Given the description of an element on the screen output the (x, y) to click on. 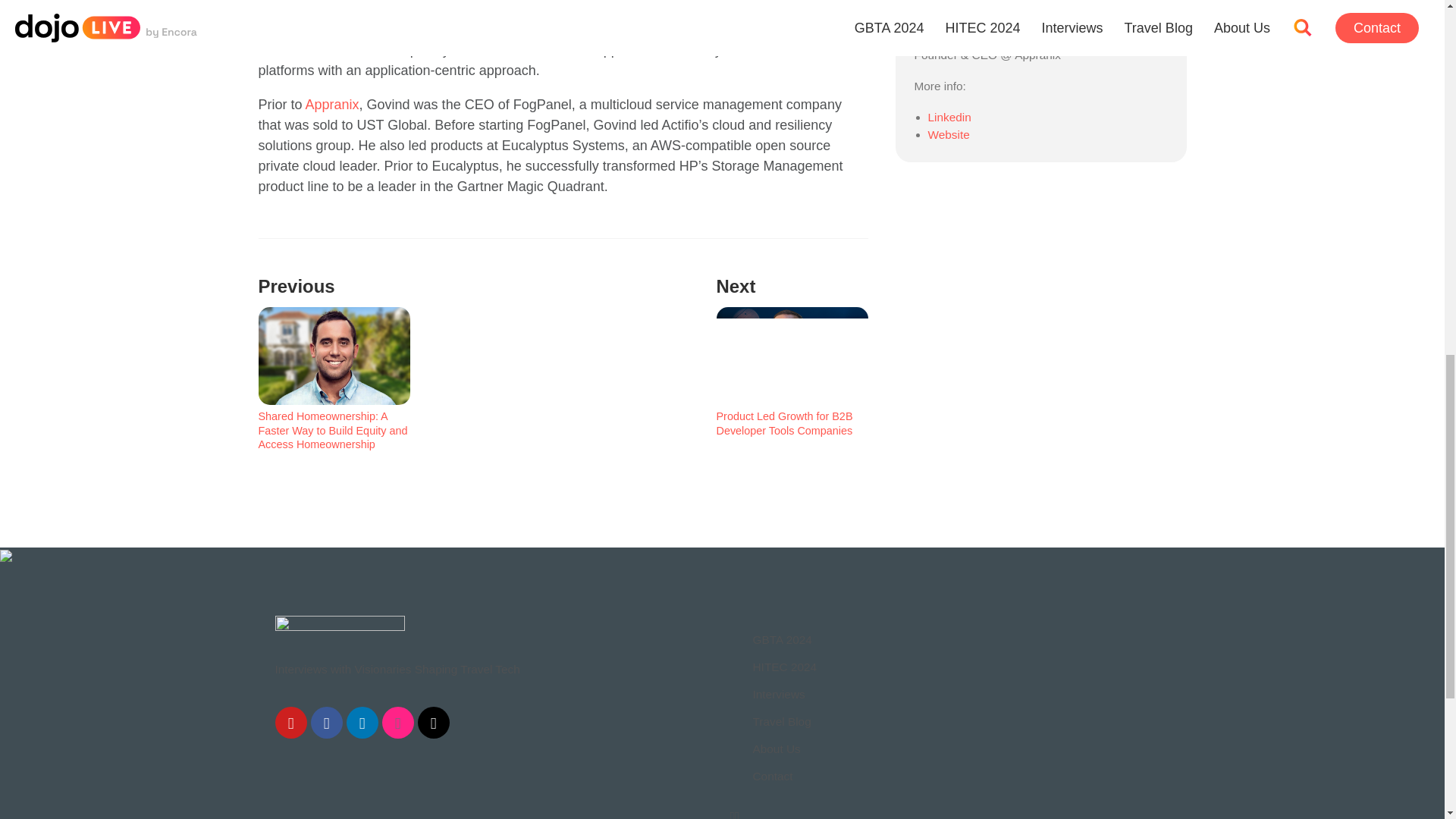
Website (948, 133)
Appranix (284, 29)
GBTA 2024 (784, 639)
About Us (784, 748)
Appranix (332, 104)
Product Led Growth for B2B Developer Tools Companies (783, 423)
Interviews (784, 693)
HITEC 2024 (784, 666)
Contact (784, 775)
